Given the description of an element on the screen output the (x, y) to click on. 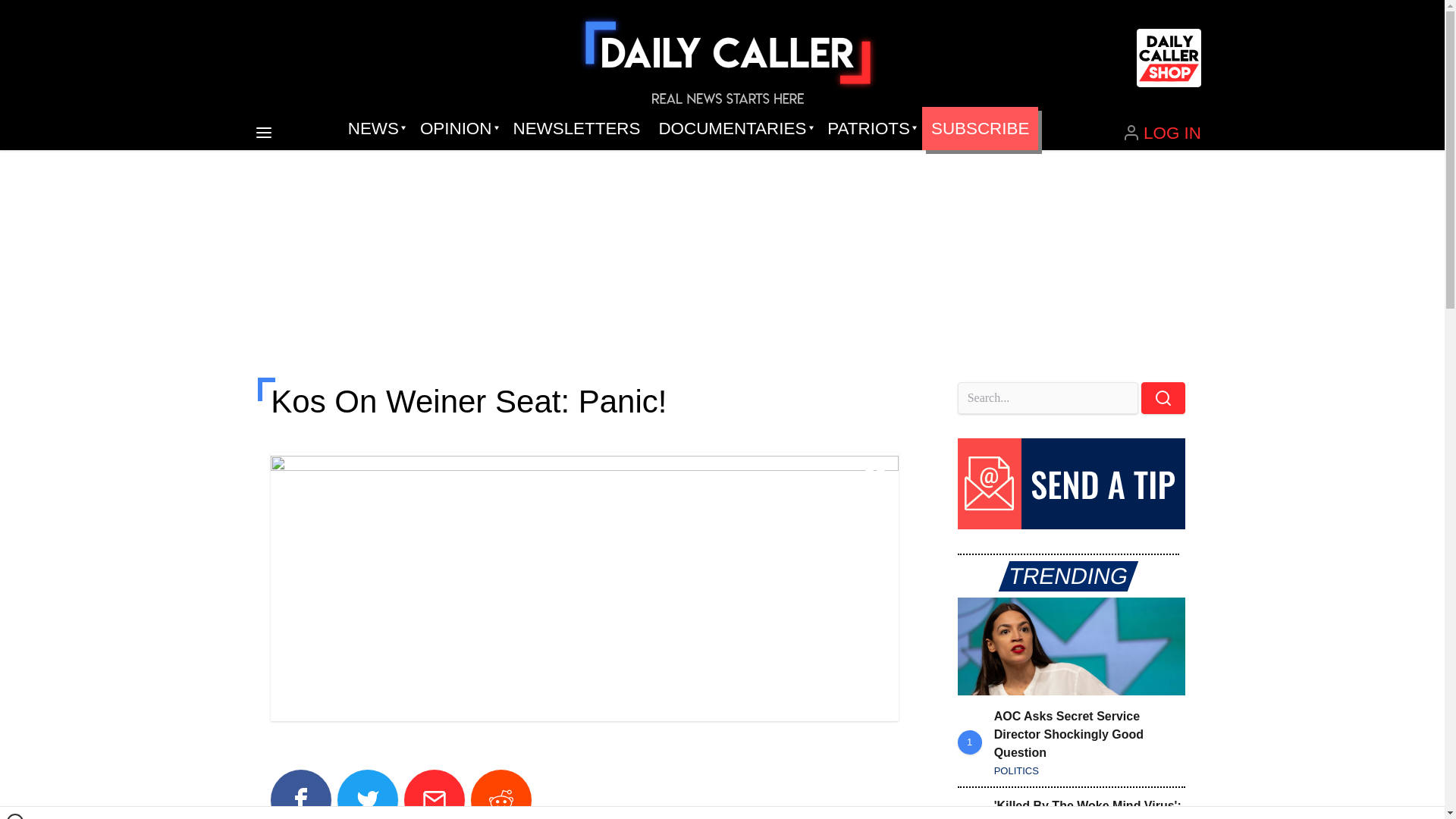
Close window (14, 816)
Toggle fullscreen (874, 476)
NEWS (374, 128)
NEWSLETTERS (576, 128)
SUBSCRIBE (979, 128)
DOCUMENTARIES (733, 128)
AOC Asks Secret Service Director Shockingly Good Question (1071, 646)
PATRIOTS (869, 128)
OPINION (456, 128)
